Given the description of an element on the screen output the (x, y) to click on. 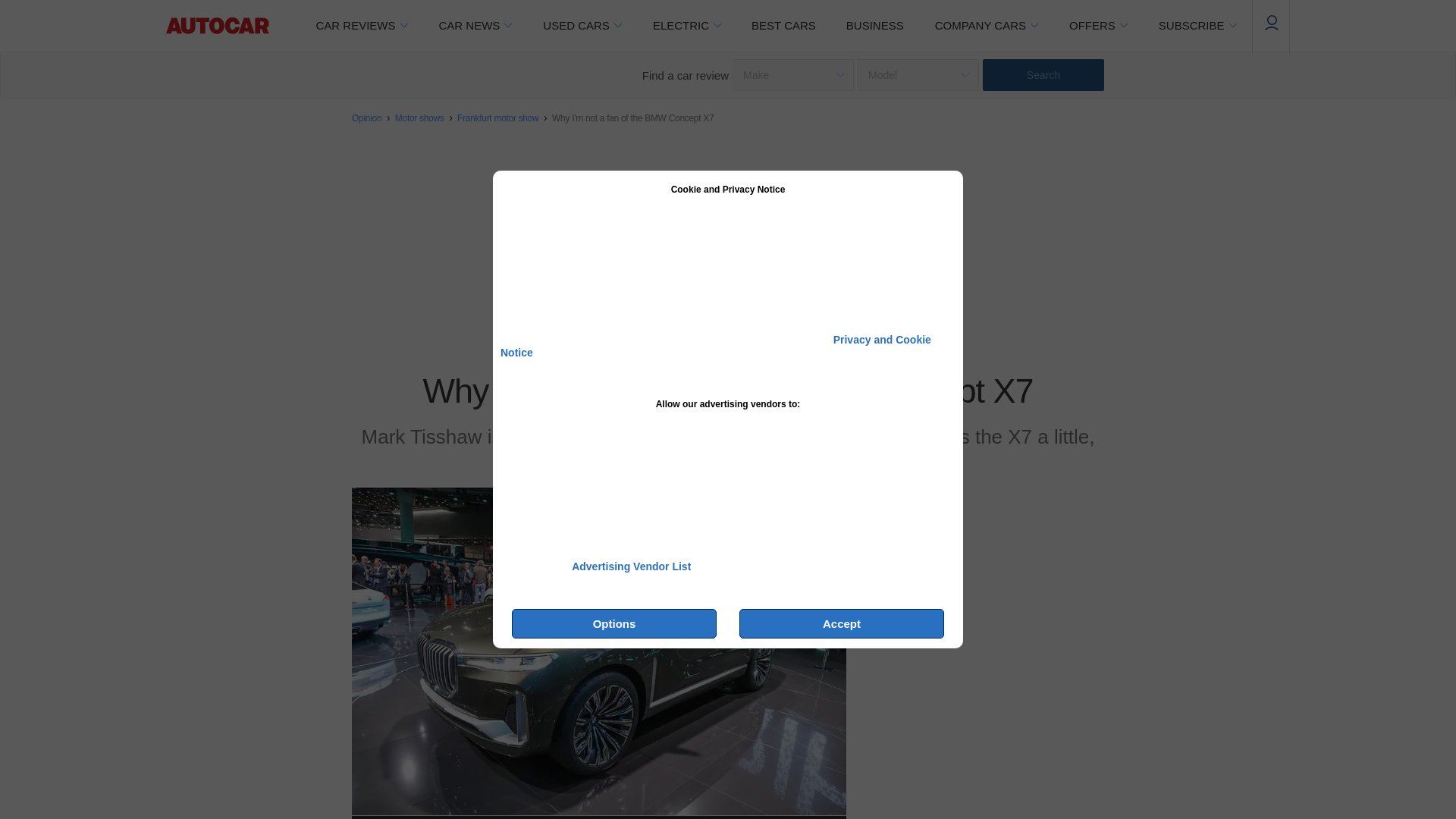
BUSINESS (874, 26)
Search (1042, 74)
Autocar Electric (686, 26)
ELECTRIC (686, 26)
CAR NEWS (475, 26)
CAR REVIEWS (360, 26)
OFFERS (1097, 26)
SUBSCRIBE (1197, 26)
Home (217, 25)
Top 10 cars by segment (783, 26)
